Given the description of an element on the screen output the (x, y) to click on. 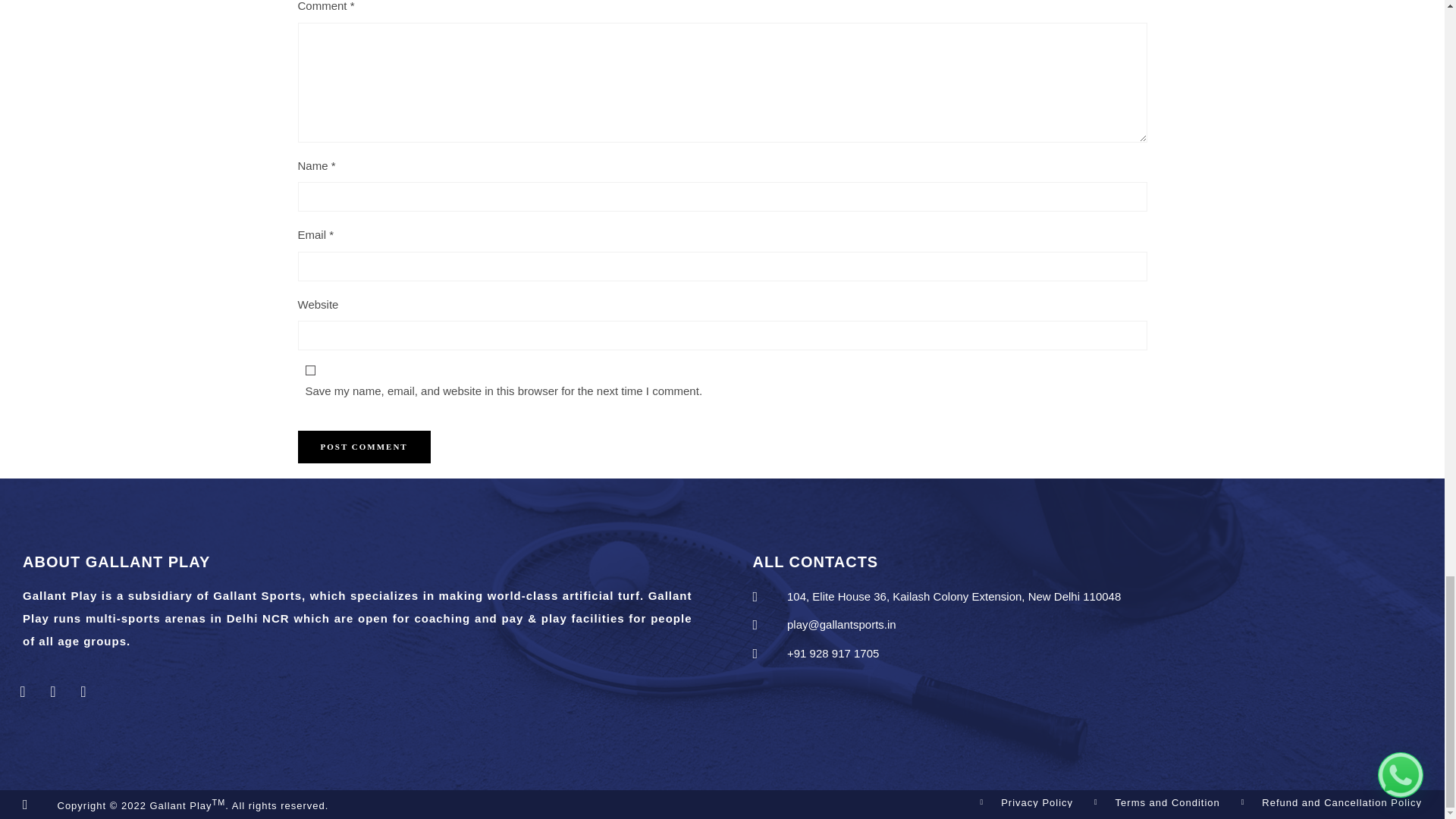
Post Comment (363, 446)
